Given the description of an element on the screen output the (x, y) to click on. 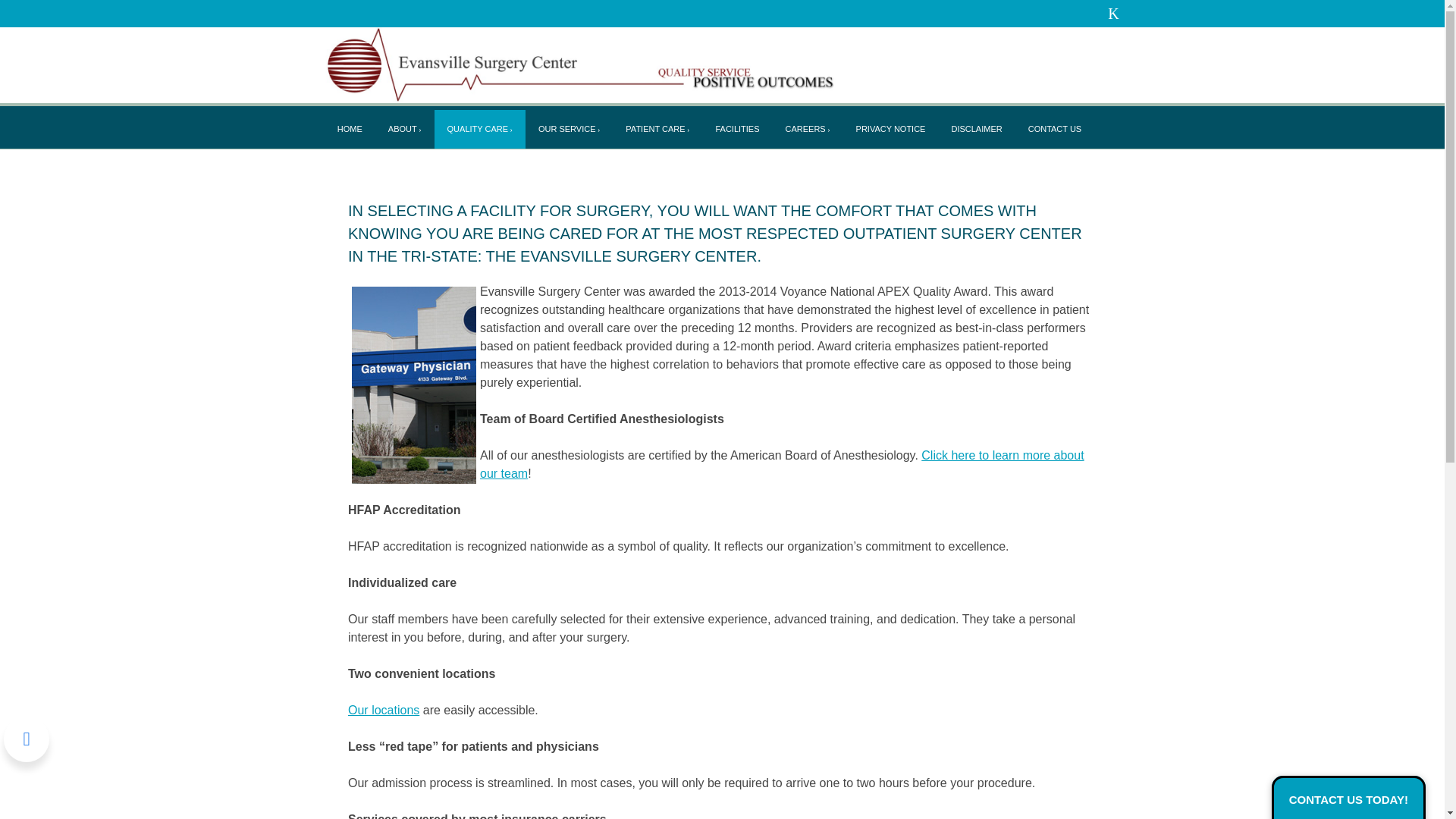
Facebook (1113, 13)
FACILITIES (736, 128)
HOME (349, 128)
